Given the description of an element on the screen output the (x, y) to click on. 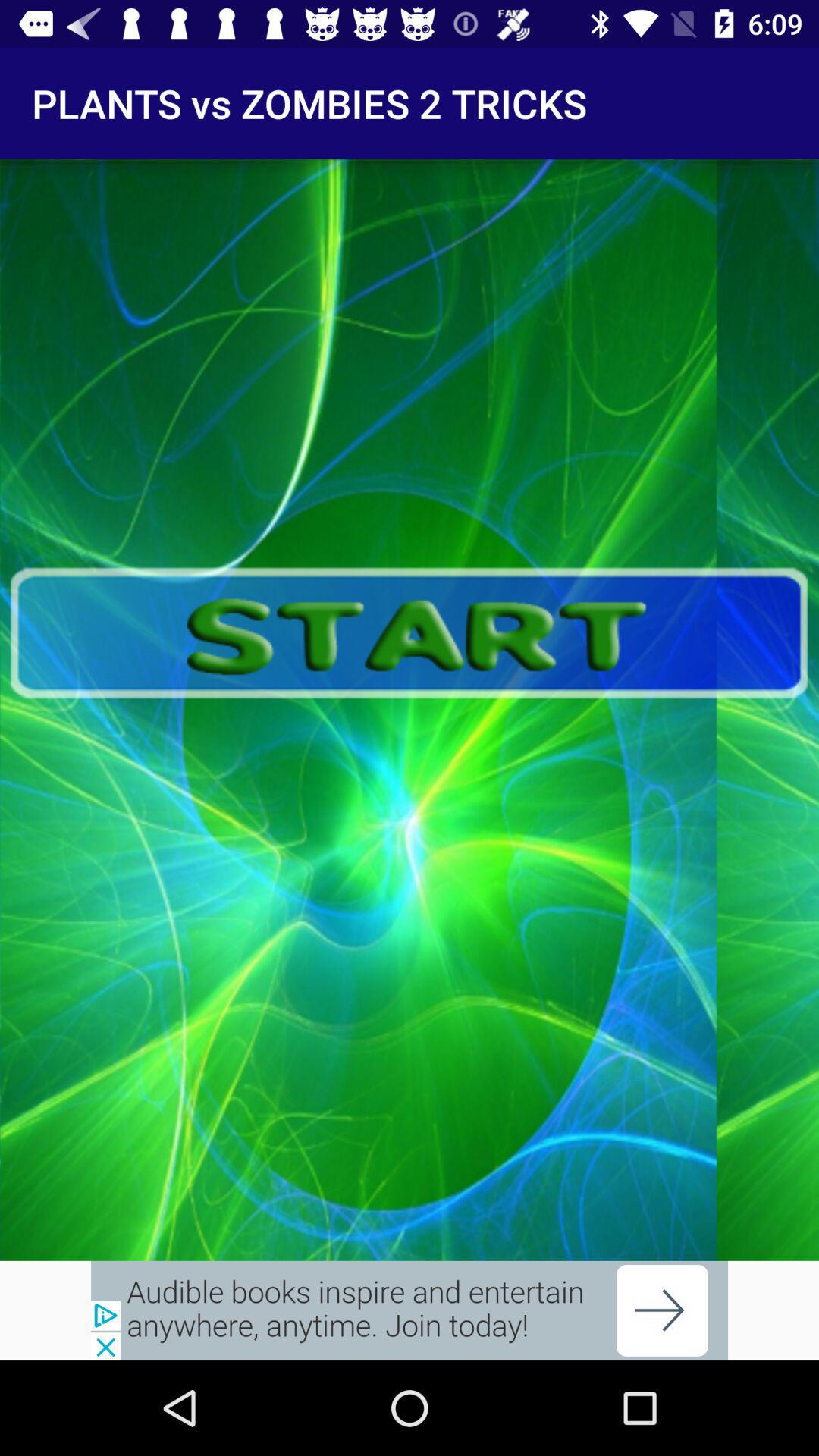
advertisement (409, 1310)
